Given the description of an element on the screen output the (x, y) to click on. 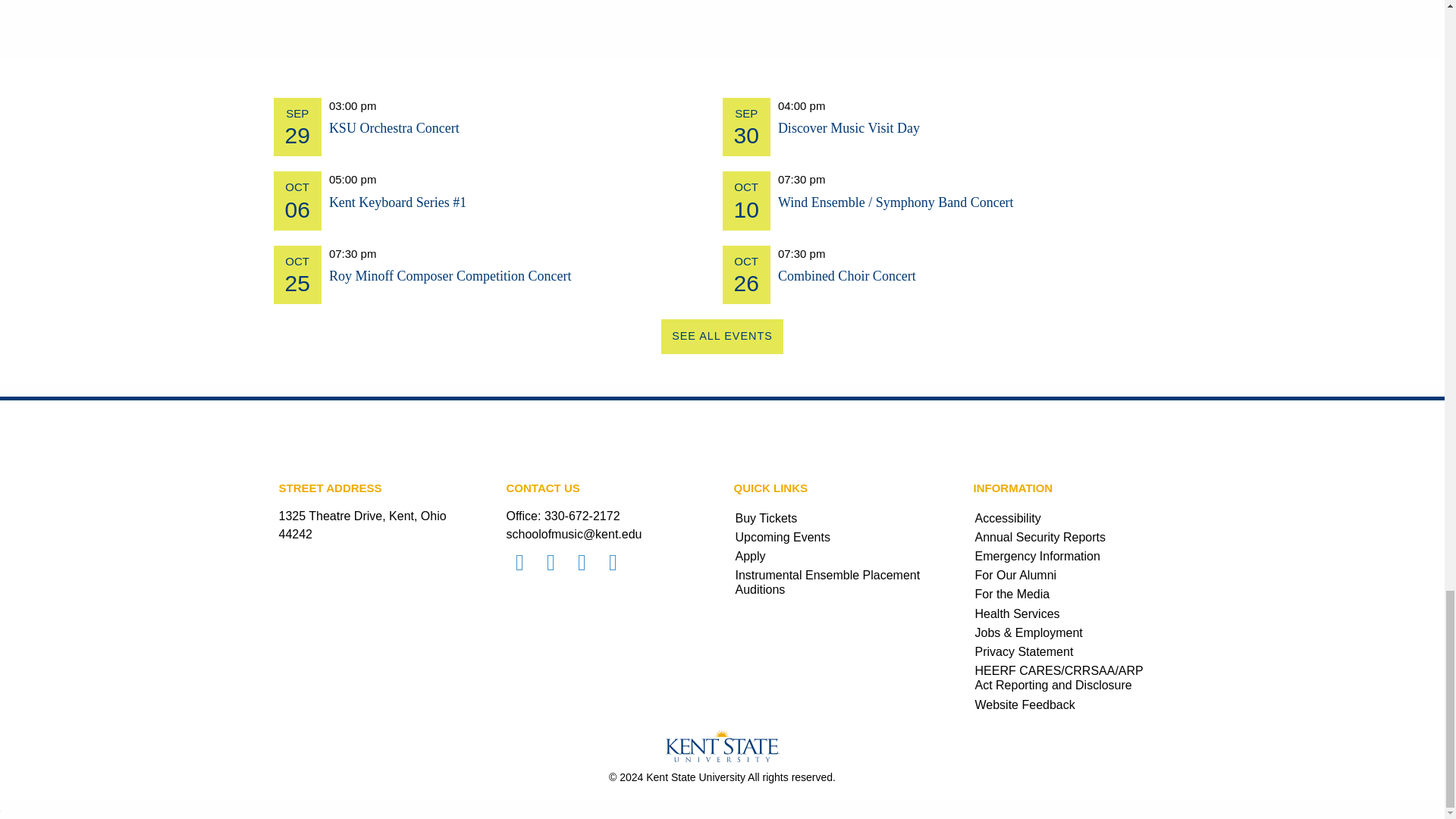
Facebook (520, 563)
YouTube (582, 563)
Instagram (612, 563)
Twitter (550, 563)
